Given the description of an element on the screen output the (x, y) to click on. 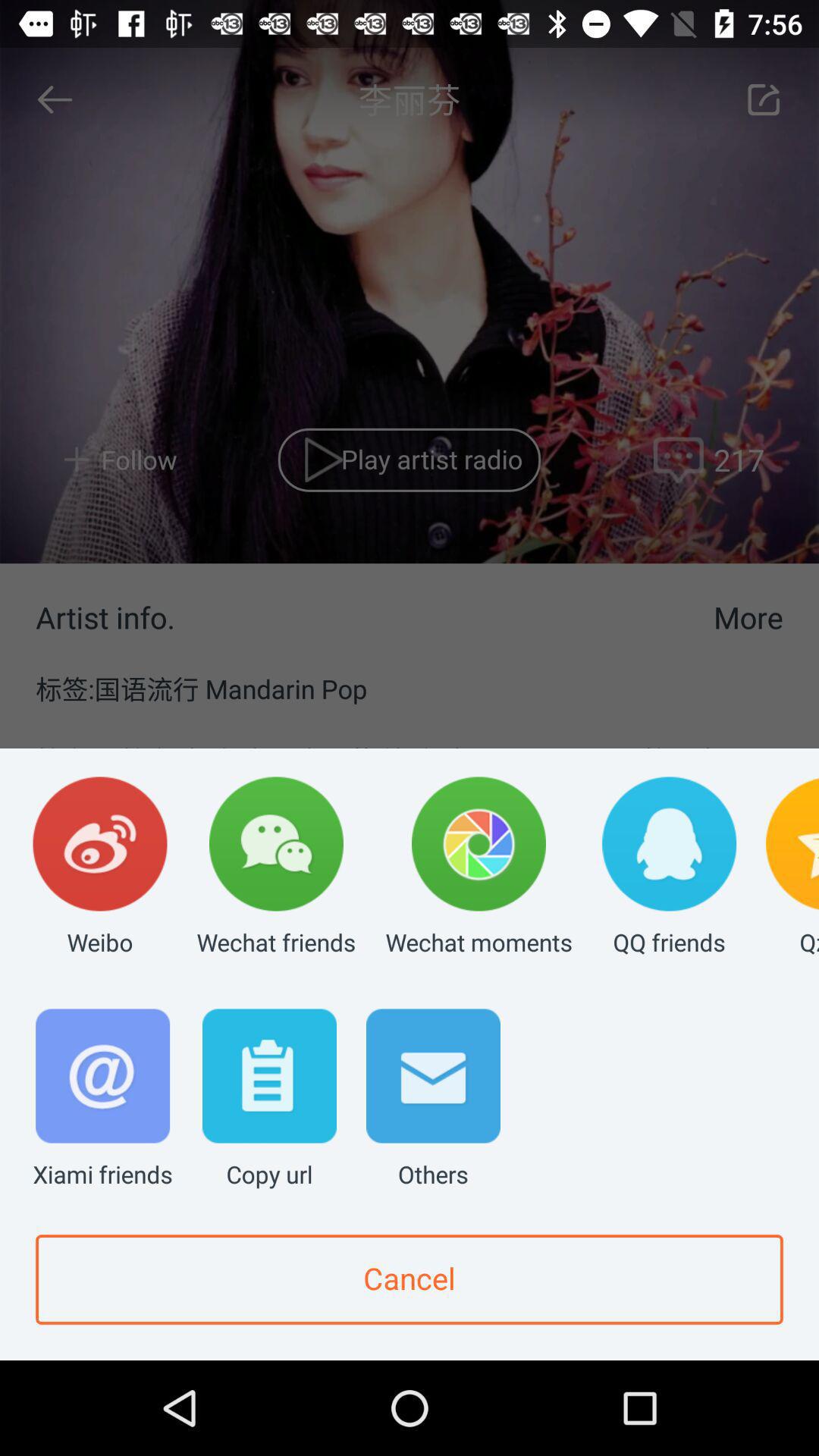
tap icon next to the wechat friends app (99, 867)
